Given the description of an element on the screen output the (x, y) to click on. 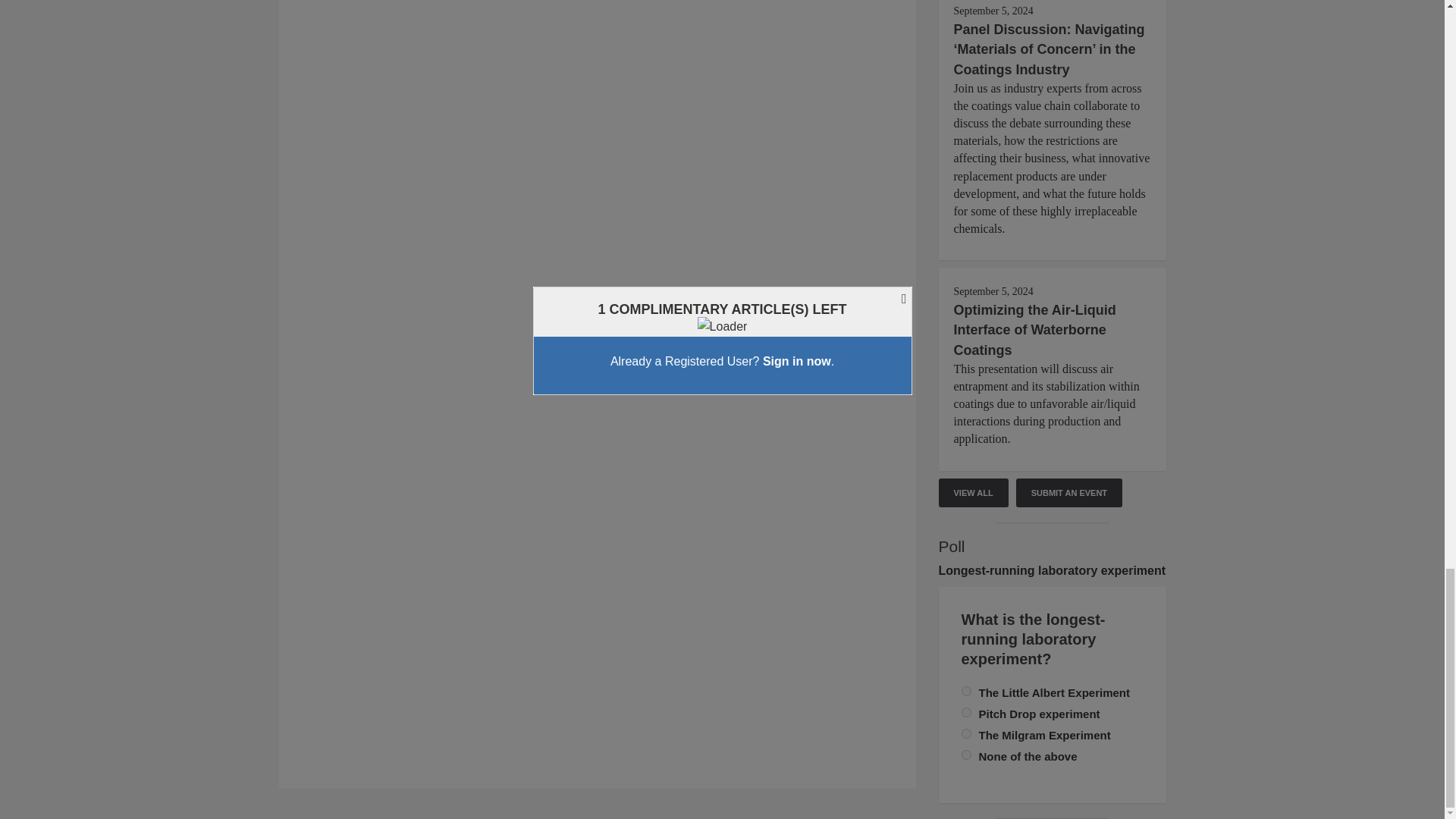
230 (965, 712)
231 (965, 755)
233 (965, 691)
232 (965, 733)
Optimizing the Air-Liquid Interface of Waterborne Coatings (1034, 329)
